Given the description of an element on the screen output the (x, y) to click on. 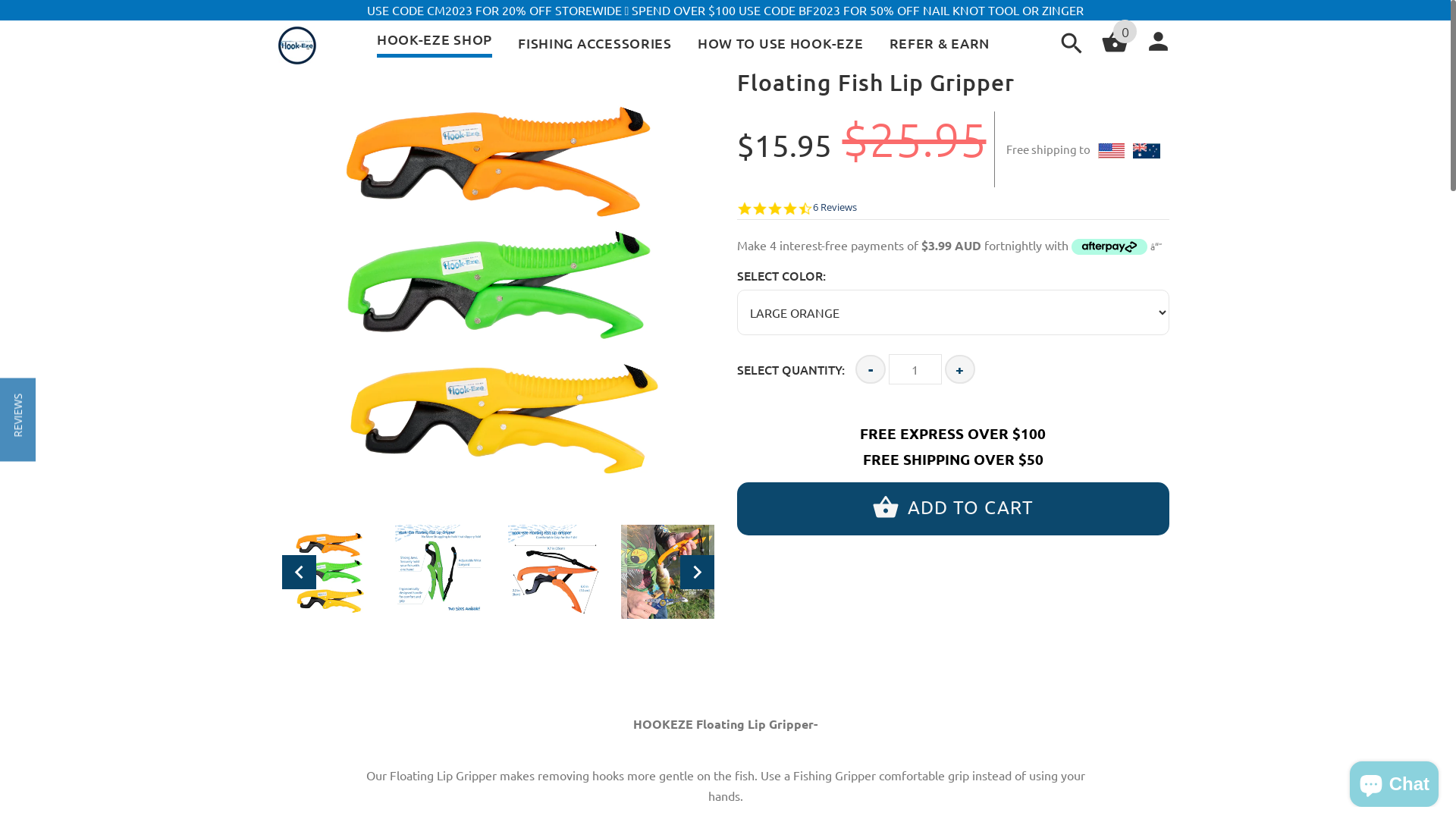
HOW TO USE HOOK-EZE Element type: text (780, 42)
Next Element type: text (696, 572)
REFER & EARN Element type: text (939, 42)
FISHING ACCESSORIES Element type: text (594, 42)
0 Element type: text (1115, 49)
HOOK-EZE SHOP Element type: text (434, 39)
- Element type: text (870, 338)
+ Element type: text (959, 338)
Shopify online store chat Element type: hover (1394, 780)
ADD TO CART Element type: text (953, 477)
Previous Element type: text (299, 572)
6 Reviews Element type: text (834, 208)
